Given the description of an element on the screen output the (x, y) to click on. 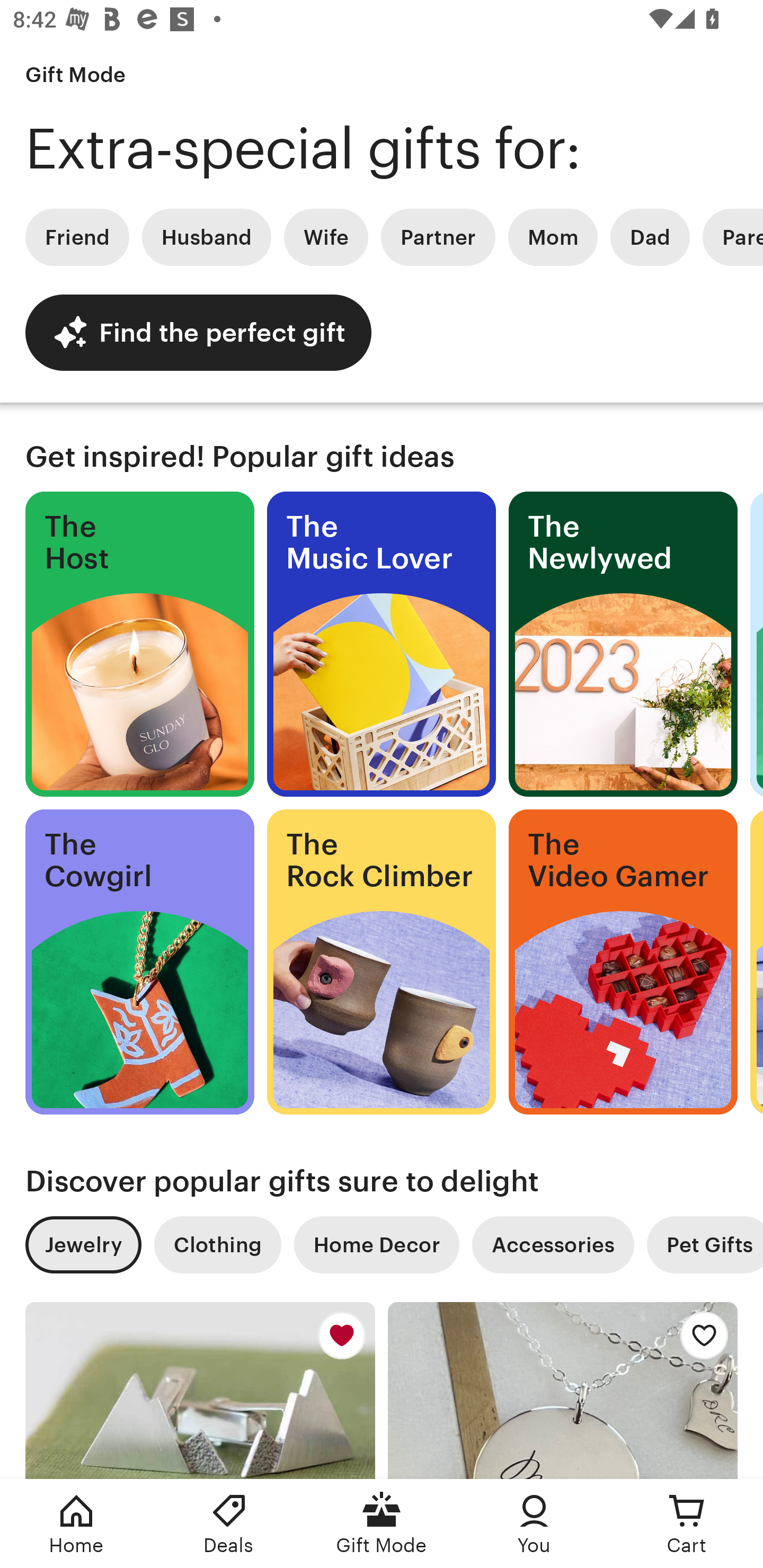
Friend (76, 237)
Husband (206, 237)
Wife (325, 237)
Partner (437, 237)
Mom (552, 237)
Dad (649, 237)
Find the perfect gift (198, 332)
The Host (139, 644)
The Music Lover (381, 644)
The Newlywed (622, 644)
The Cowgirl (139, 961)
The Rock Climber (381, 961)
The Video Gamer (622, 961)
Jewelry (83, 1244)
Clothing (217, 1244)
Home Decor (376, 1244)
Accessories (553, 1244)
Pet Gifts (705, 1244)
Home (76, 1523)
Deals (228, 1523)
You (533, 1523)
Cart (686, 1523)
